Given the description of an element on the screen output the (x, y) to click on. 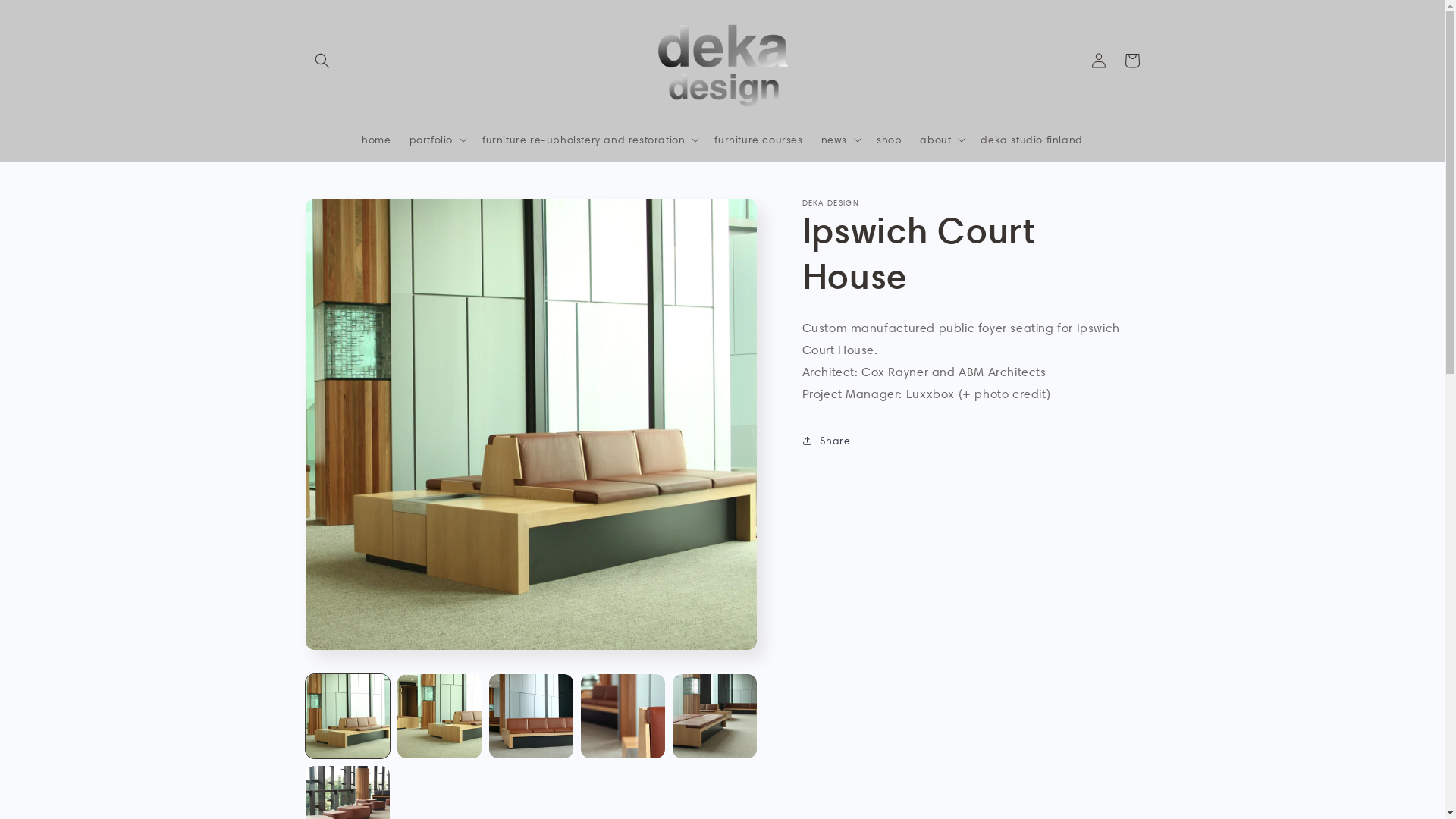
home Element type: text (375, 139)
Log in Element type: text (1097, 60)
https://dekadesign.com.au/products/ipswich-court-house Element type: text (892, 497)
Skip to product information Element type: text (350, 215)
Cart Element type: text (1131, 60)
shop Element type: text (888, 139)
deka studio finland Element type: text (1031, 139)
furniture courses Element type: text (758, 139)
